Given the description of an element on the screen output the (x, y) to click on. 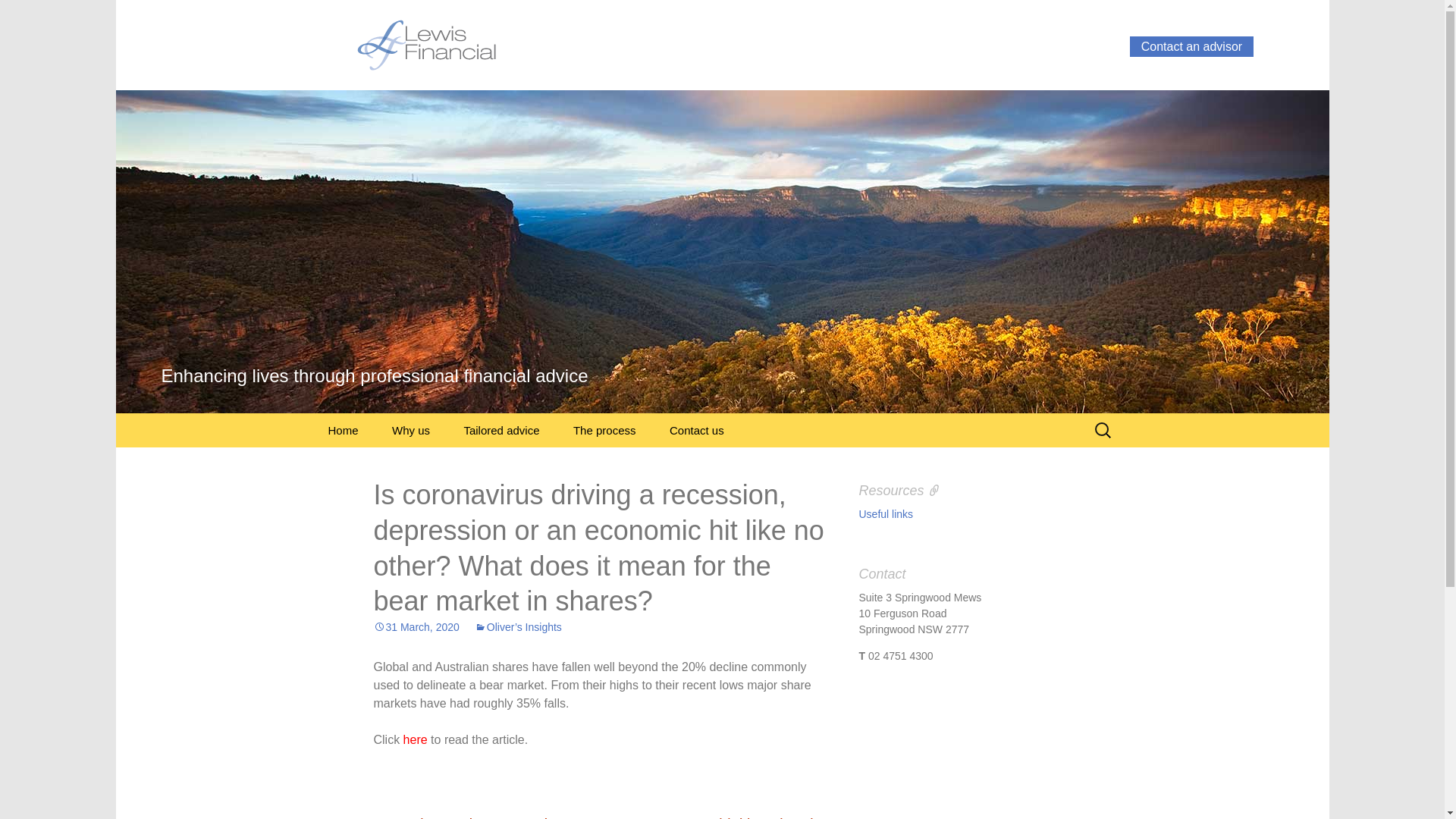
31 March, 2020 Element type: text (415, 627)
Why us Element type: text (410, 430)
Tailored advice Element type: text (501, 430)
Skip to content Element type: text (312, 412)
Contact an advisor Element type: text (1190, 46)
Useful links Element type: text (885, 514)
Contact us Element type: text (696, 430)
The process Element type: text (604, 430)
here Element type: text (415, 739)
Search Element type: text (18, 15)
Home Element type: text (342, 430)
